Given the description of an element on the screen output the (x, y) to click on. 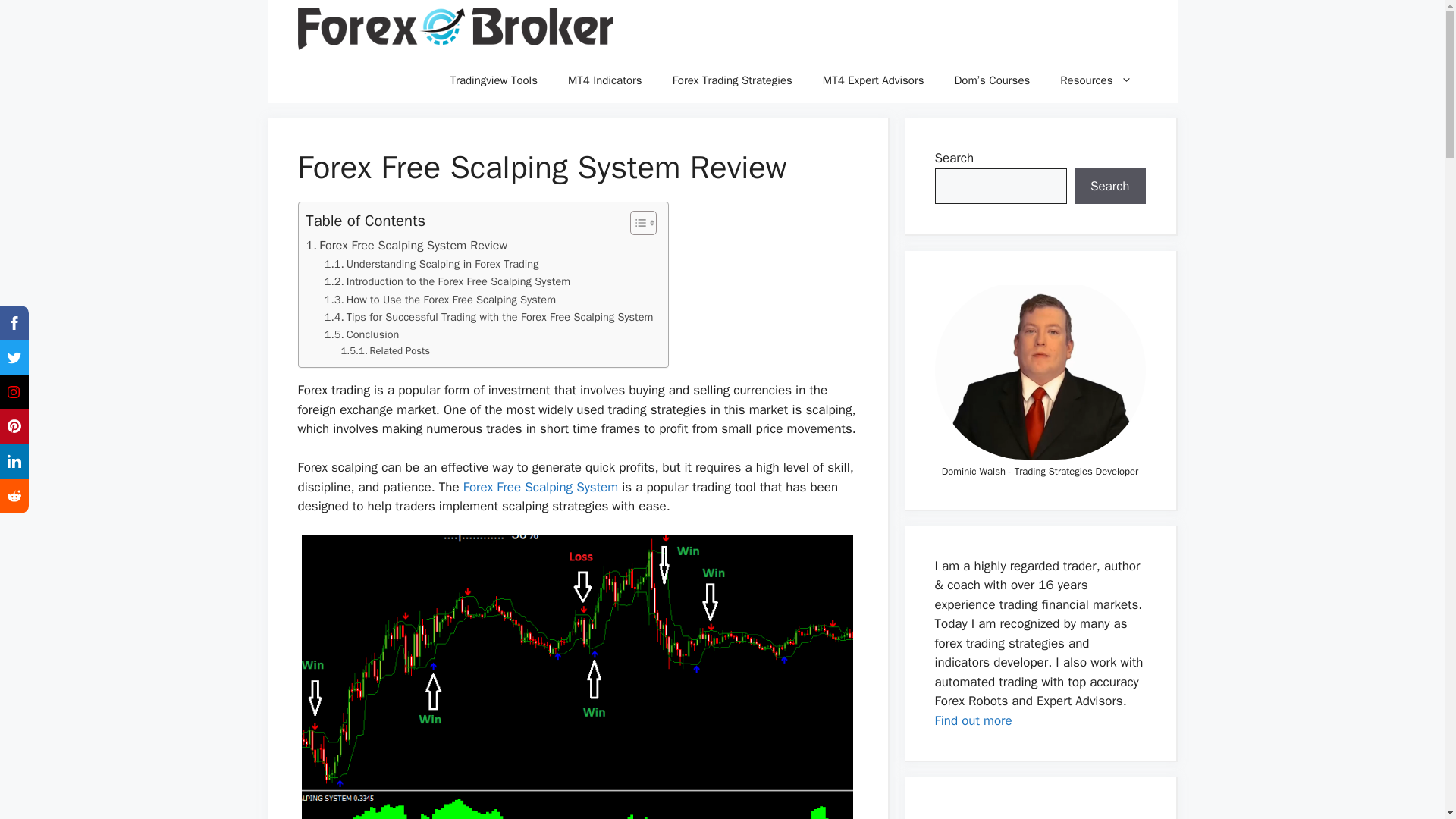
Tradingview Tools (494, 80)
Conclusion (361, 334)
Forexobroker (454, 28)
Understanding Scalping in Forex Trading (431, 263)
Forex Free Scalping System Review (406, 245)
Related Posts (385, 351)
MT4 Expert Advisors (873, 80)
Conclusion (361, 334)
Introduction to the Forex Free Scalping System (447, 281)
How to Use the Forex Free Scalping System (440, 299)
Forex Trading Strategies (733, 80)
Related Posts (385, 351)
Forex Free Scalping System Review (406, 245)
Introduction to the Forex Free Scalping System (447, 281)
